Given the description of an element on the screen output the (x, y) to click on. 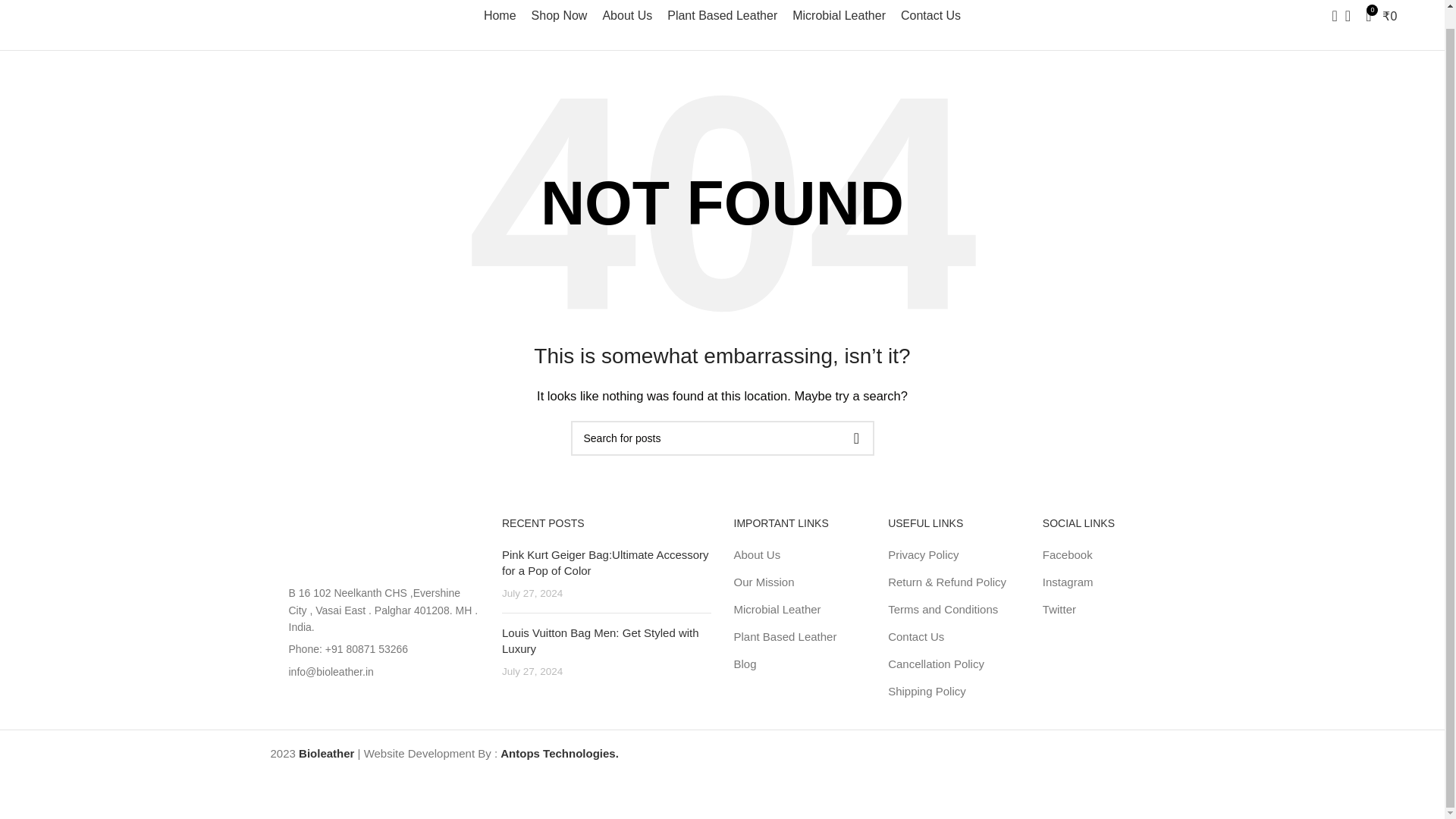
Plant Based Leather (785, 636)
Antops Technologies. (559, 753)
Cancellation Policy (936, 663)
Shop Now (559, 15)
Terms and Conditions (943, 609)
wd-phone-dark (275, 648)
Shopping cart (1381, 15)
About Us (758, 554)
Permalink to Louis Vuitton Bag Men: Get Styled with Luxury (600, 640)
Louis Vuitton Bag Men: Get Styled with Luxury (600, 640)
Bioleather (325, 753)
Search (1330, 15)
Blog (745, 663)
Our Mission (764, 581)
About Us (627, 15)
